Given the description of an element on the screen output the (x, y) to click on. 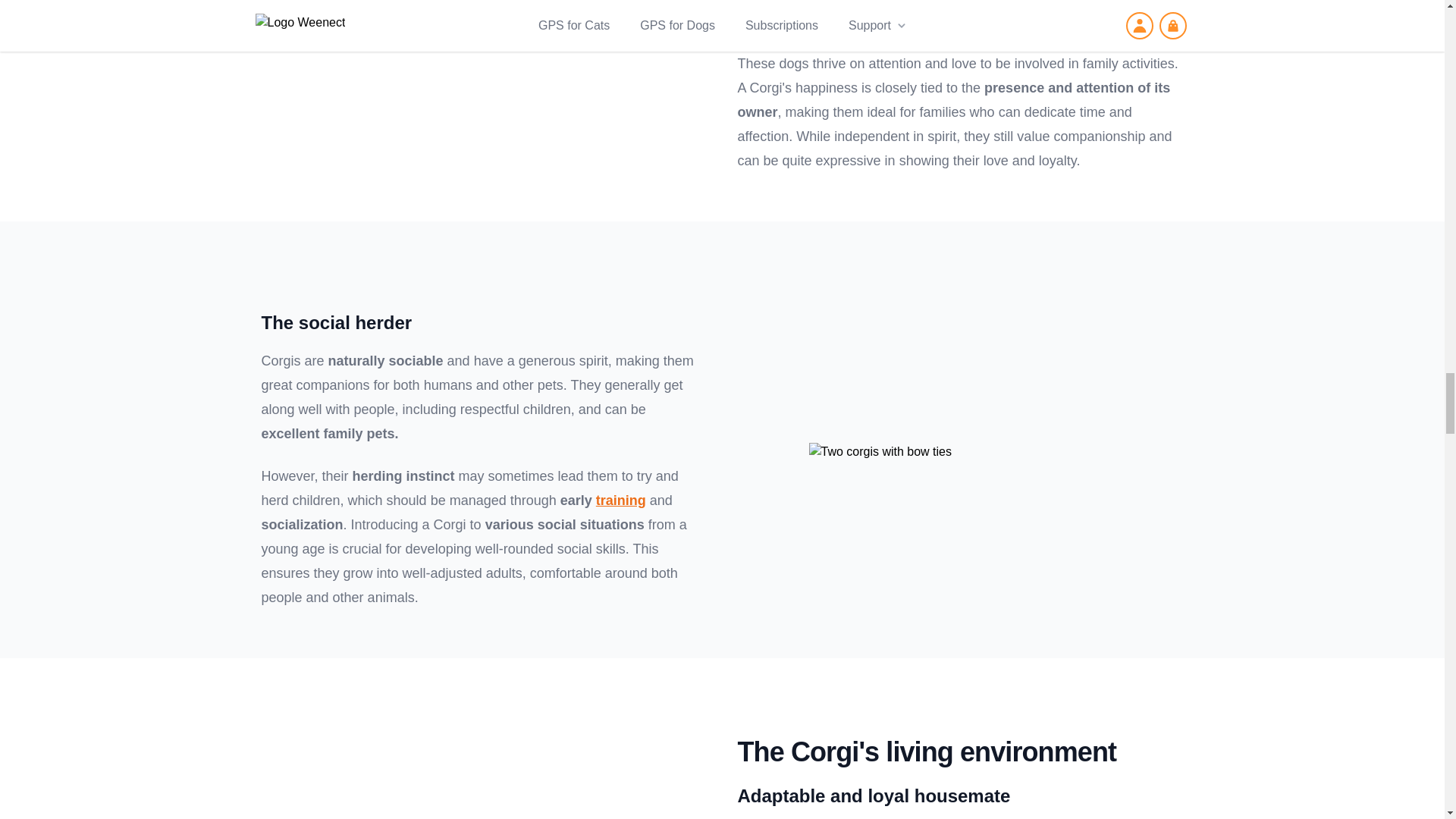
interaction (771, 20)
training (620, 500)
owners (758, 2)
